Given the description of an element on the screen output the (x, y) to click on. 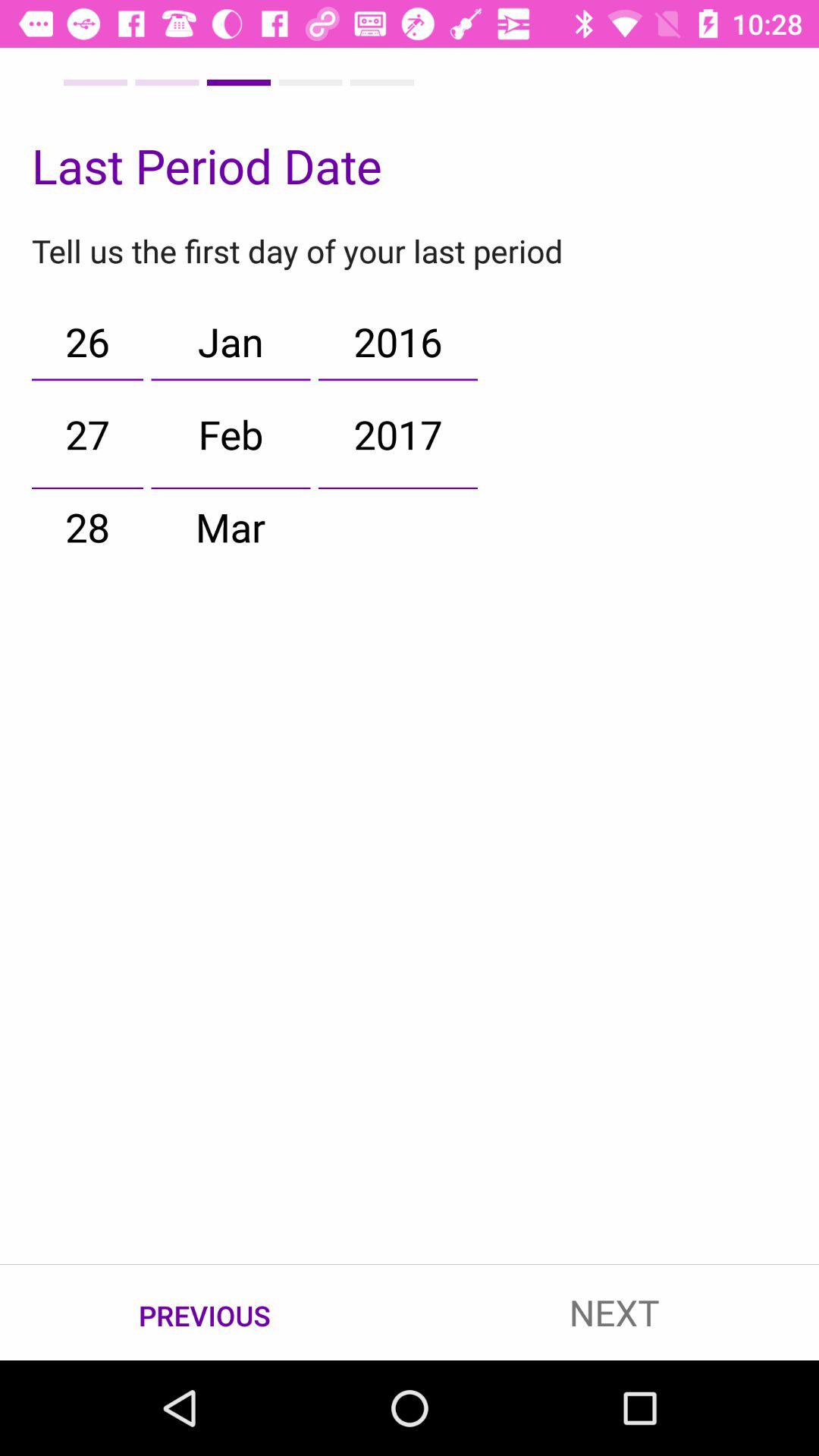
tap the previous item (204, 1313)
